Given the description of an element on the screen output the (x, y) to click on. 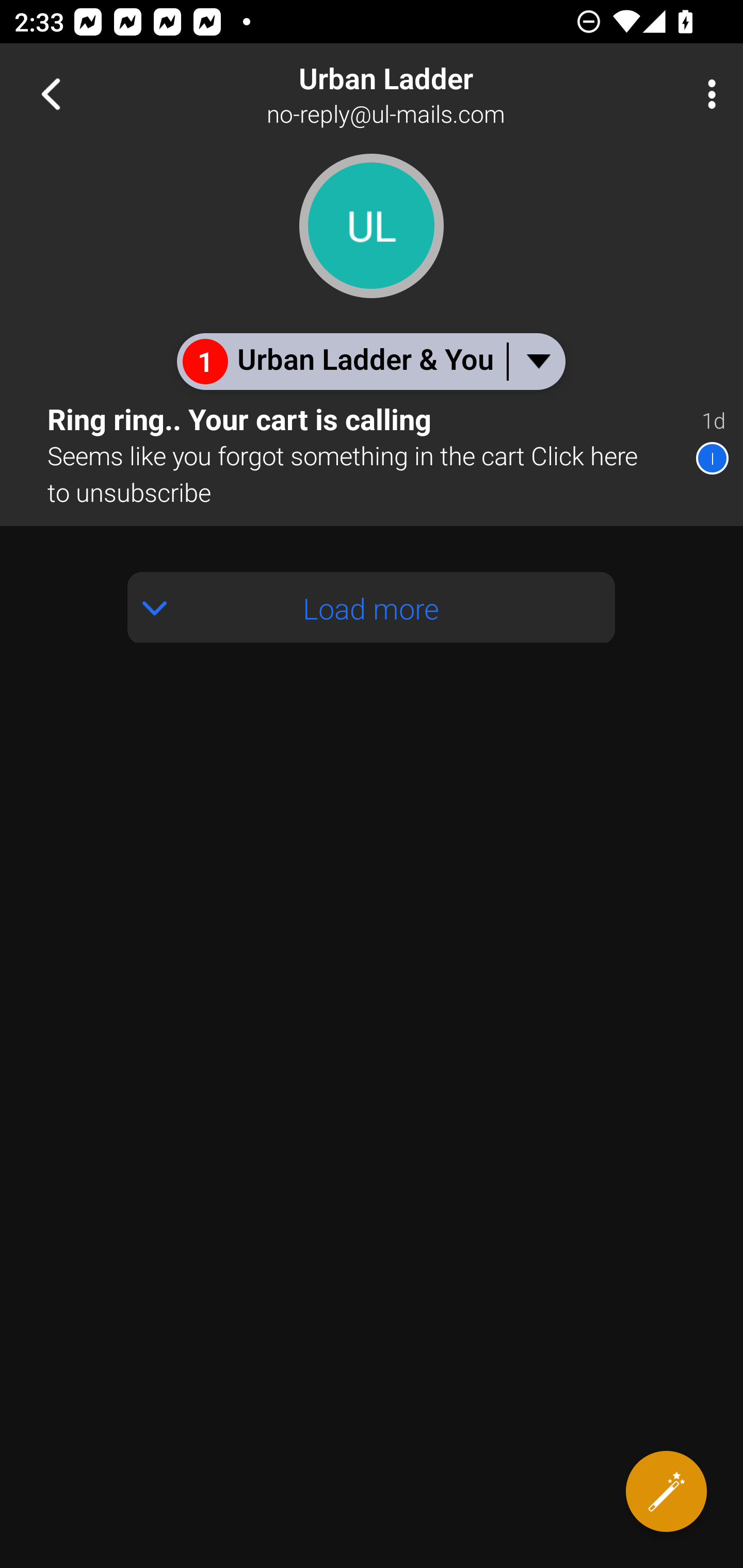
Navigate up (50, 93)
Urban Ladder no-reply@ul-mails.com (436, 93)
More Options (706, 93)
1 Urban Ladder & You (370, 361)
Load more (371, 607)
